Given the description of an element on the screen output the (x, y) to click on. 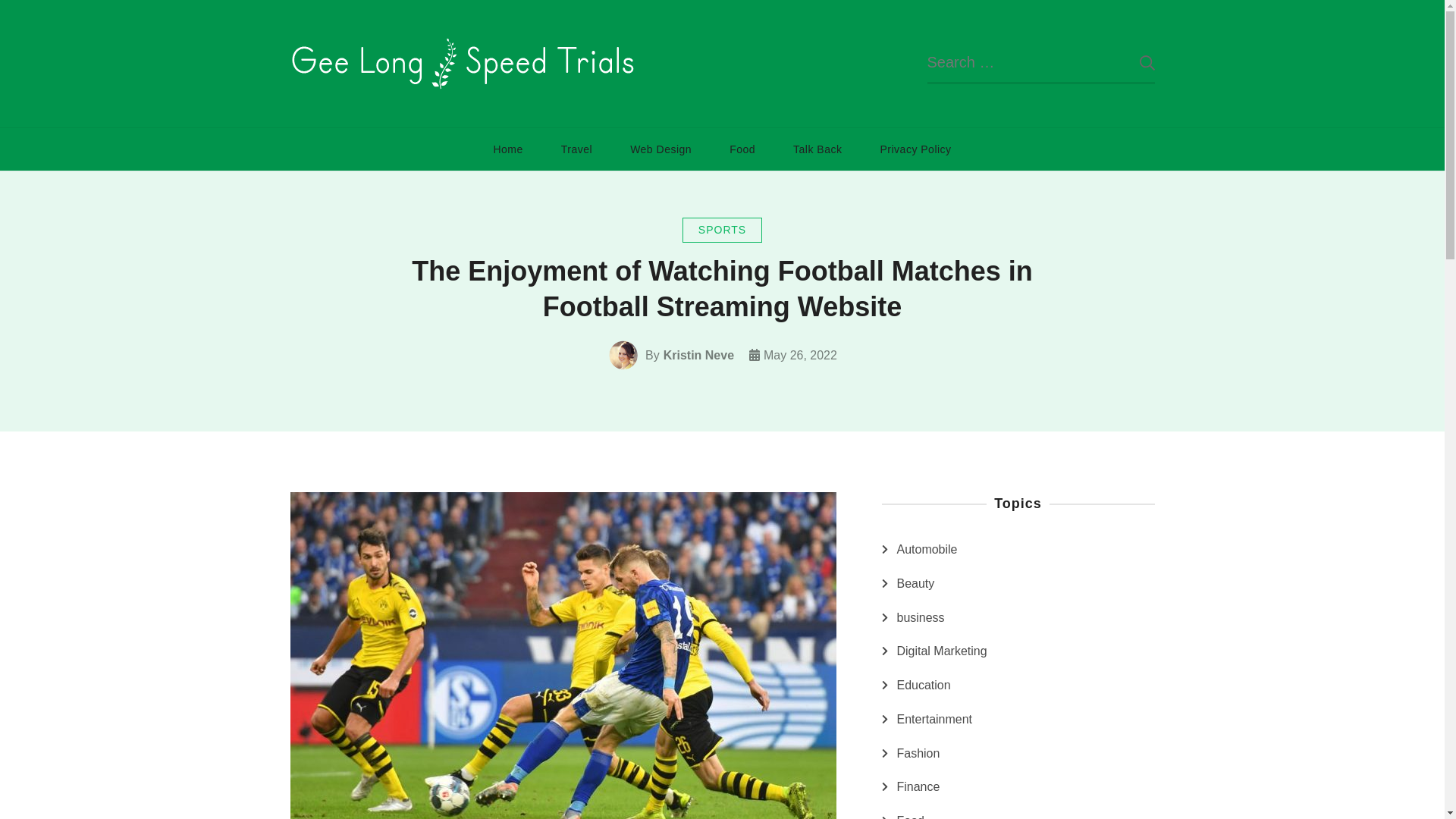
Talk Back (817, 148)
Automobile (926, 549)
Search (1135, 62)
Food (909, 814)
Food (742, 148)
Fashion (917, 753)
Kristin Neve (698, 354)
Web Design (660, 148)
May 26, 2022 (799, 354)
business (919, 617)
SPORTS (721, 229)
Entertainment (934, 719)
Gee Long Speed Trials (771, 83)
Search (1135, 62)
Beauty (915, 583)
